Given the description of an element on the screen output the (x, y) to click on. 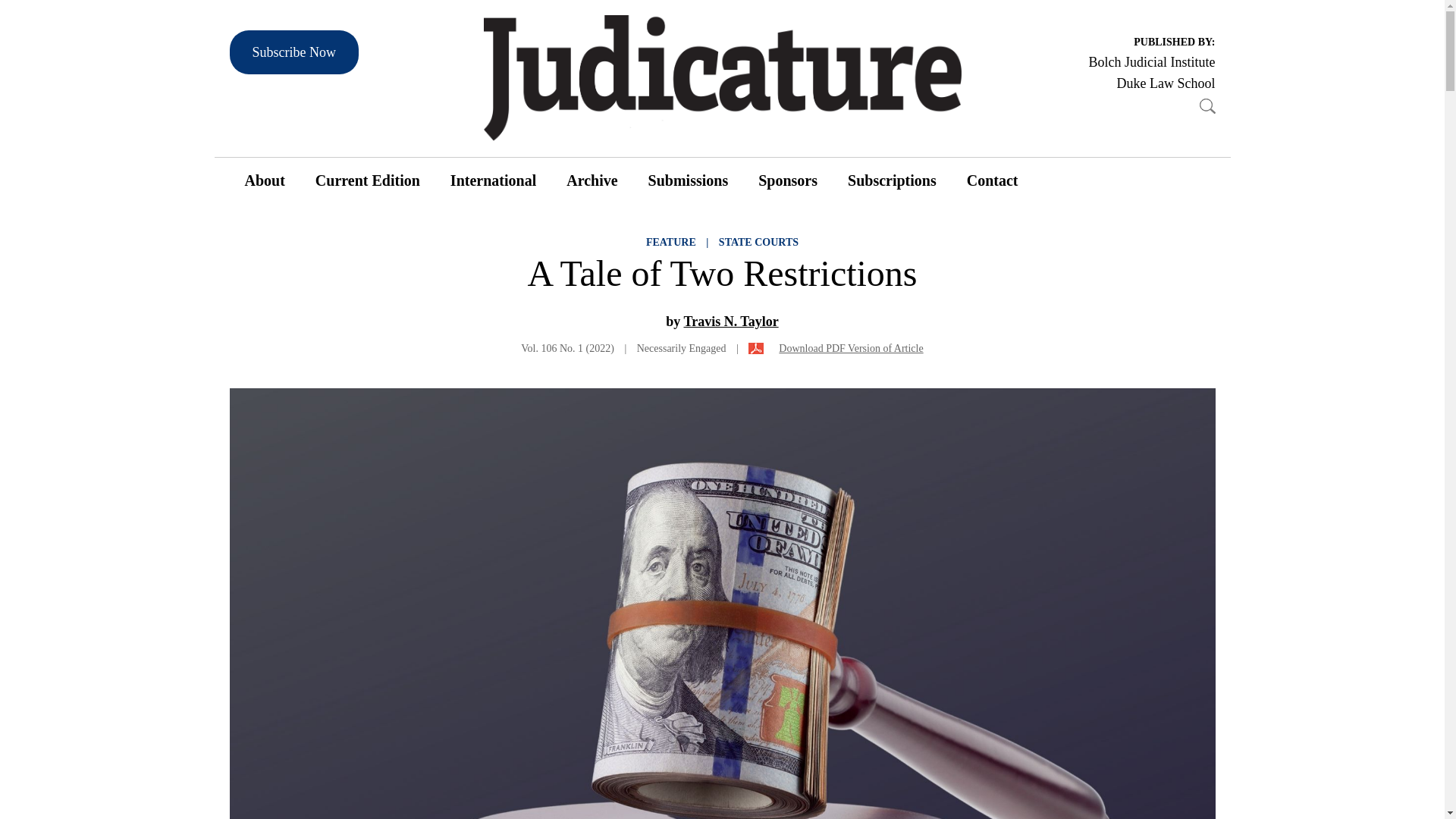
Archive (591, 180)
About (263, 180)
Download PDF Version of Article (835, 348)
International (493, 180)
Archive (591, 180)
Current Edition (367, 180)
Travis N. Taylor (729, 321)
Submissions (688, 180)
About (263, 180)
Subscriptions (892, 180)
